Given the description of an element on the screen output the (x, y) to click on. 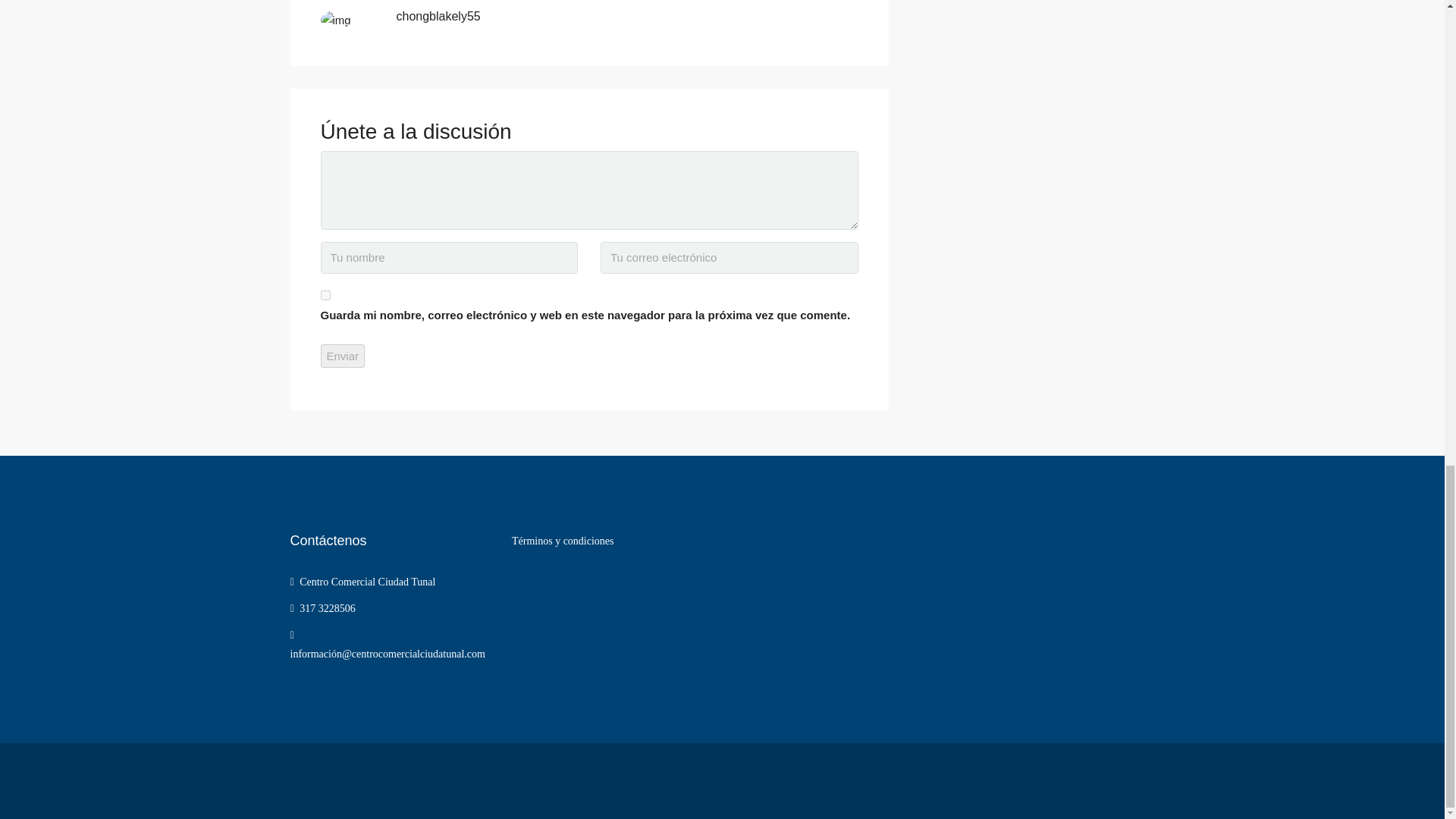
yes (325, 295)
Enviar (342, 355)
Enviar (342, 355)
